Given the description of an element on the screen output the (x, y) to click on. 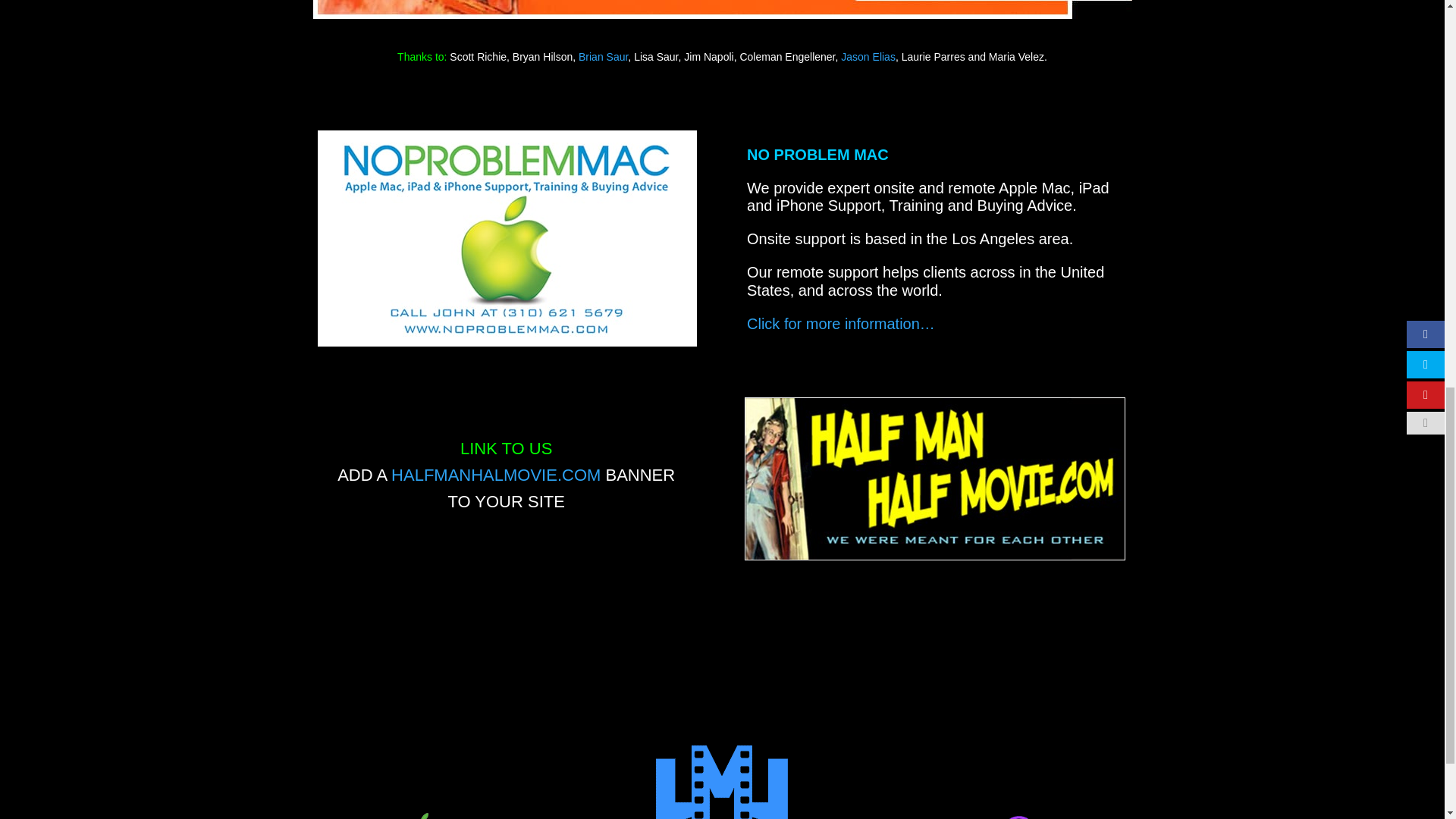
Divi-200 (964, 814)
Brian Saur (602, 56)
Caller-500 (934, 478)
Jason Elias (868, 56)
MOAM-200 (480, 814)
HALFMANHALMOVIE.COM (495, 475)
Click for more information... (840, 323)
Link To Us (495, 475)
Jason Elias (868, 56)
Brian Saur (602, 56)
